Given the description of an element on the screen output the (x, y) to click on. 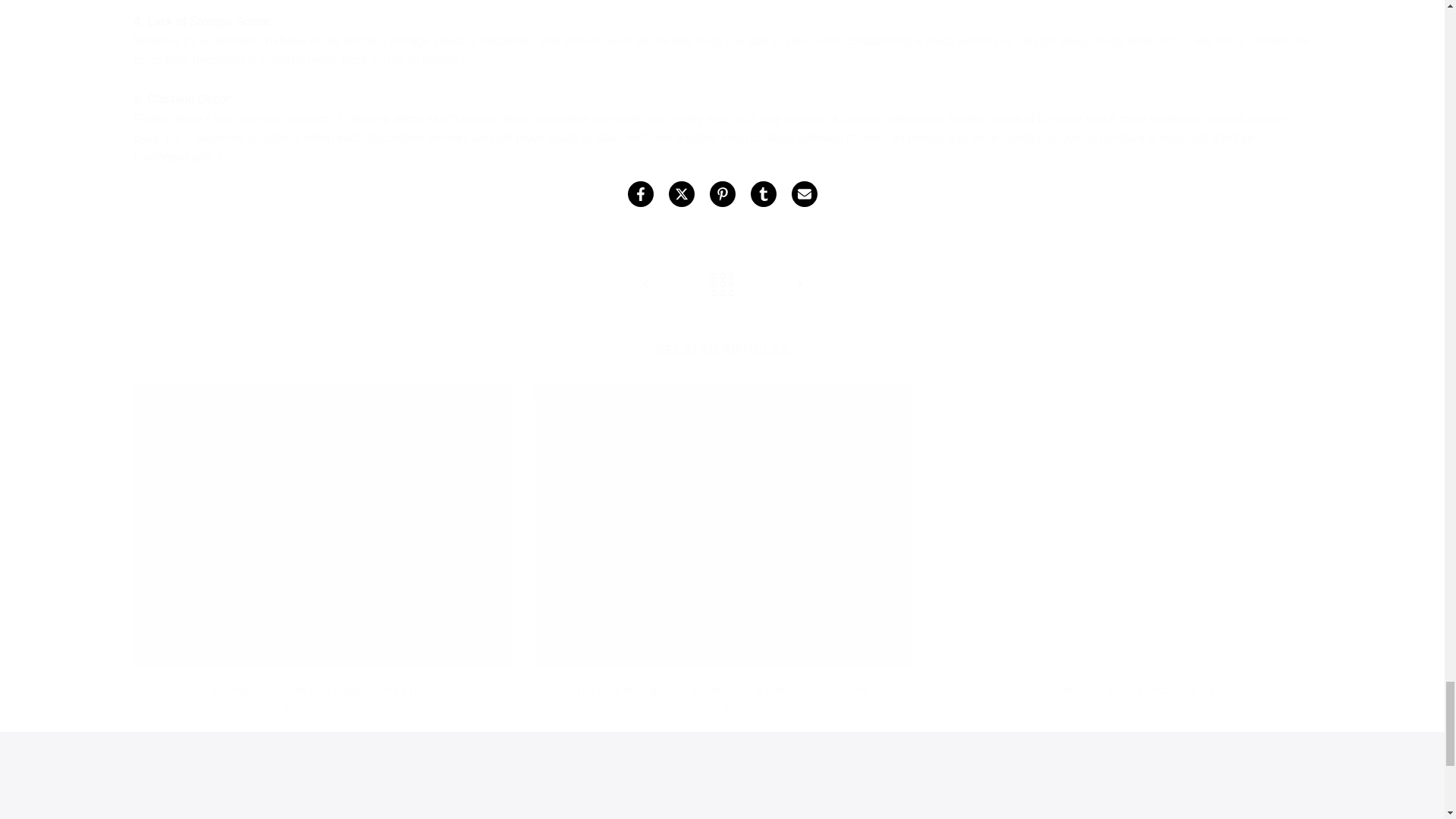
20 Bedroom Wall Art Ideas (646, 284)
Share on Email (804, 193)
Share on Facebook (640, 193)
Share on Twitter (681, 193)
Back to Wall Art Blog (722, 284)
Environmental Friendly Wall Art (797, 284)
Share on Tumblr (763, 193)
Share on Pinterest (722, 193)
